Given the description of an element on the screen output the (x, y) to click on. 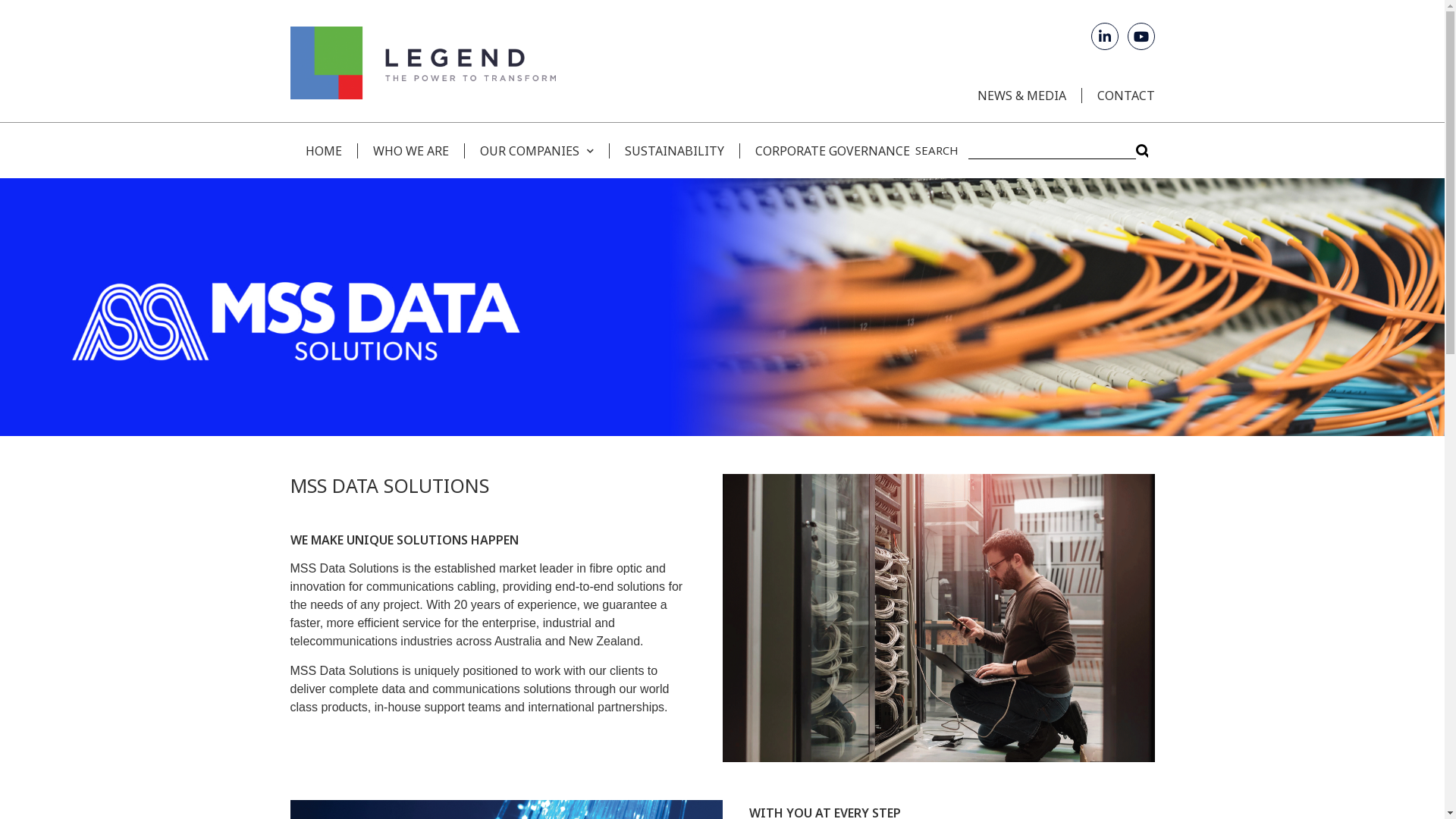
Search Element type: hover (1051, 150)
OUR COMPANIES Element type: text (536, 149)
HOME Element type: text (322, 149)
SUSTAINABILITY Element type: text (673, 149)
NEWS & MEDIA Element type: text (1020, 95)
CORPORATE GOVERNANCE Element type: text (823, 149)
WHO WE ARE Element type: text (409, 149)
CONTACT Element type: text (1117, 95)
Search Element type: hover (1141, 150)
